Given the description of an element on the screen output the (x, y) to click on. 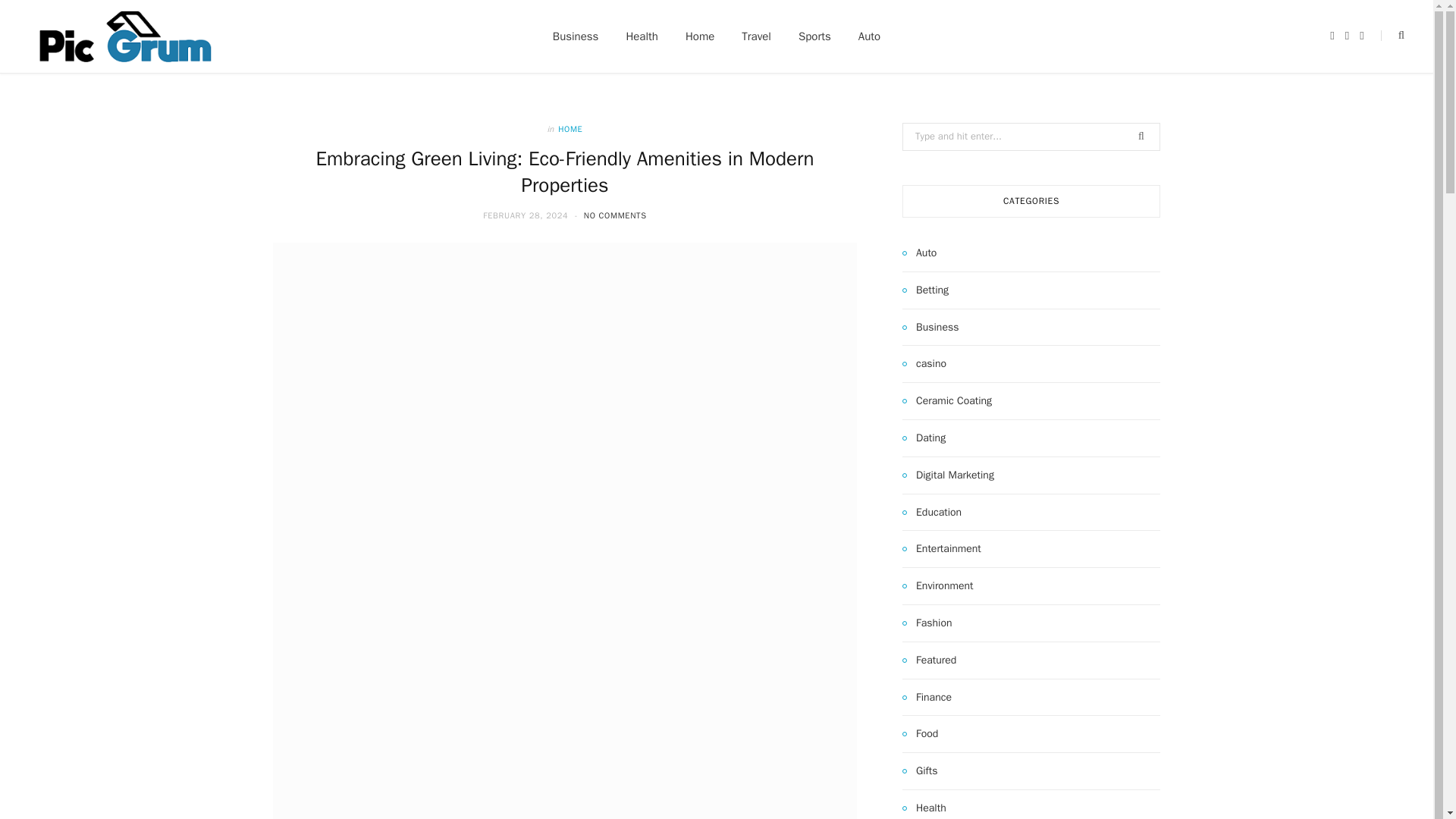
NO COMMENTS (614, 214)
Business (930, 327)
FEBRUARY 28, 2024 (526, 214)
Betting (925, 290)
Auto (919, 253)
Search for: (1031, 136)
Business (575, 36)
Picgrum (124, 36)
HOME (569, 128)
